Given the description of an element on the screen output the (x, y) to click on. 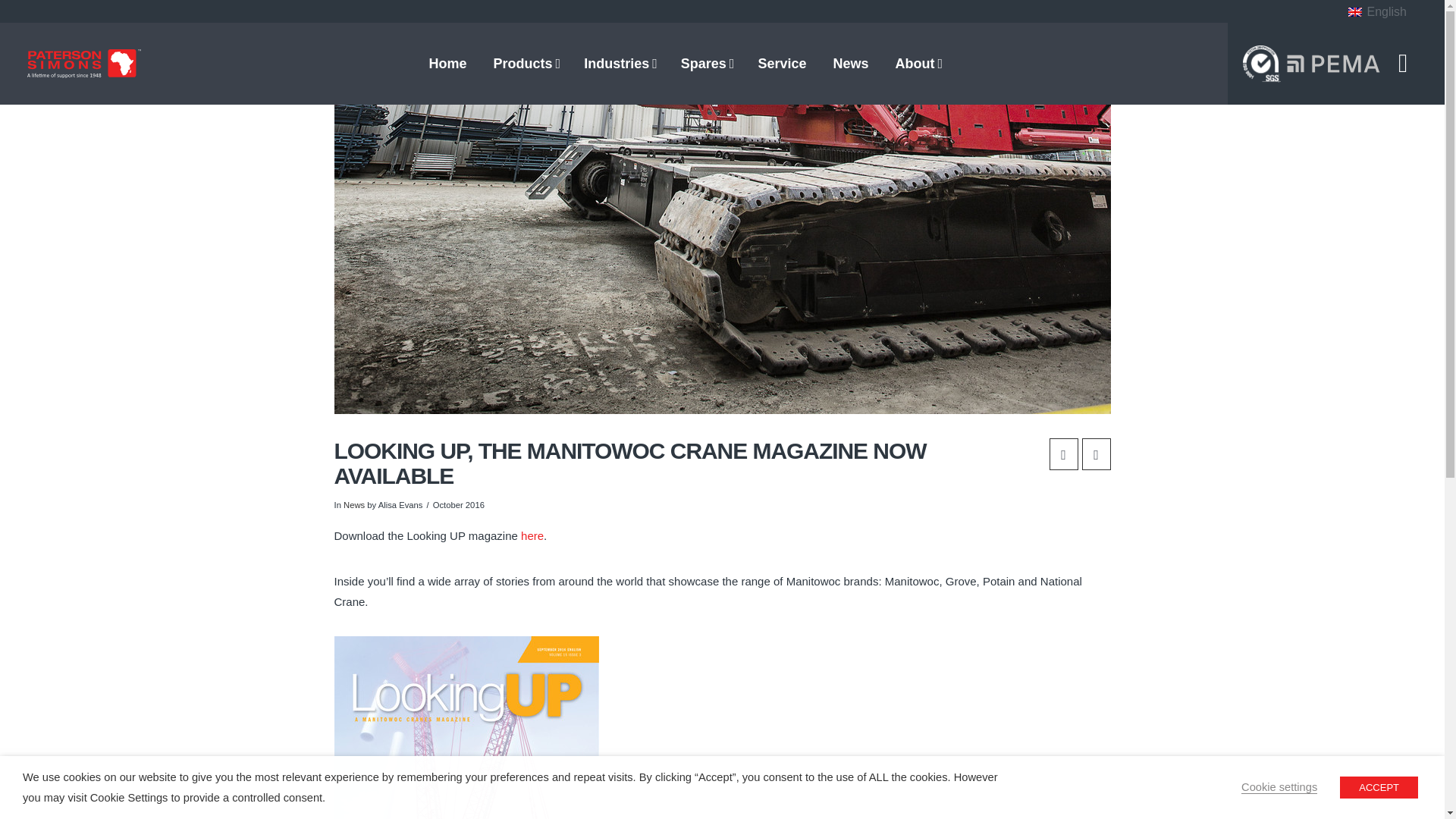
English (1376, 12)
Home (447, 63)
Products (525, 63)
